Given the description of an element on the screen output the (x, y) to click on. 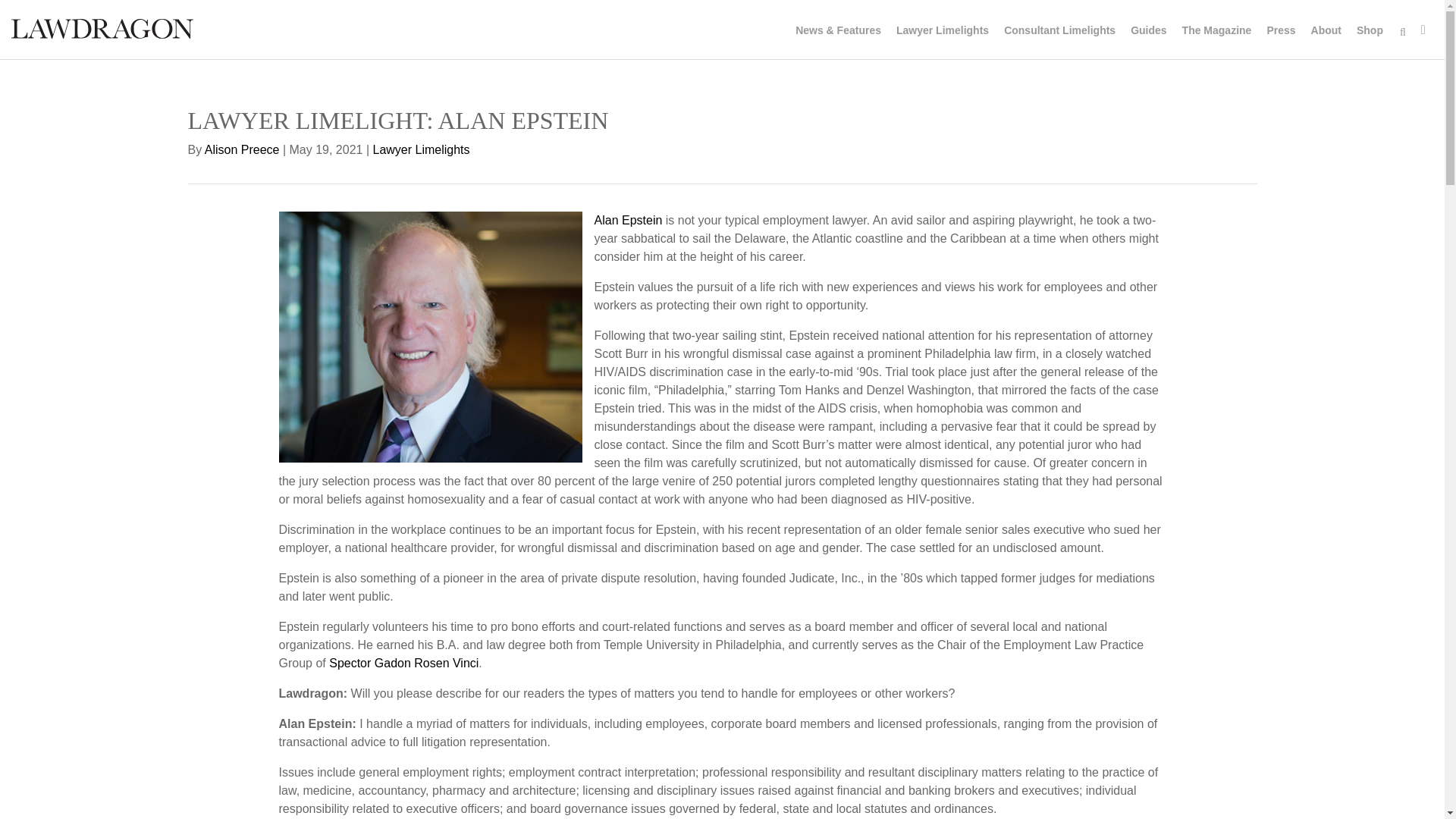
About (1326, 30)
Guides (1147, 30)
Spector Gadon Rosen Vinci (404, 662)
Shop (1369, 30)
The Magazine (1216, 30)
Alison Preece (242, 149)
Consultant Limelights (1058, 30)
Press (1281, 30)
Lawyer Limelights (421, 149)
Lawyer Limelights (941, 30)
Alan Epstein (628, 219)
open or close search (1402, 32)
